Given the description of an element on the screen output the (x, y) to click on. 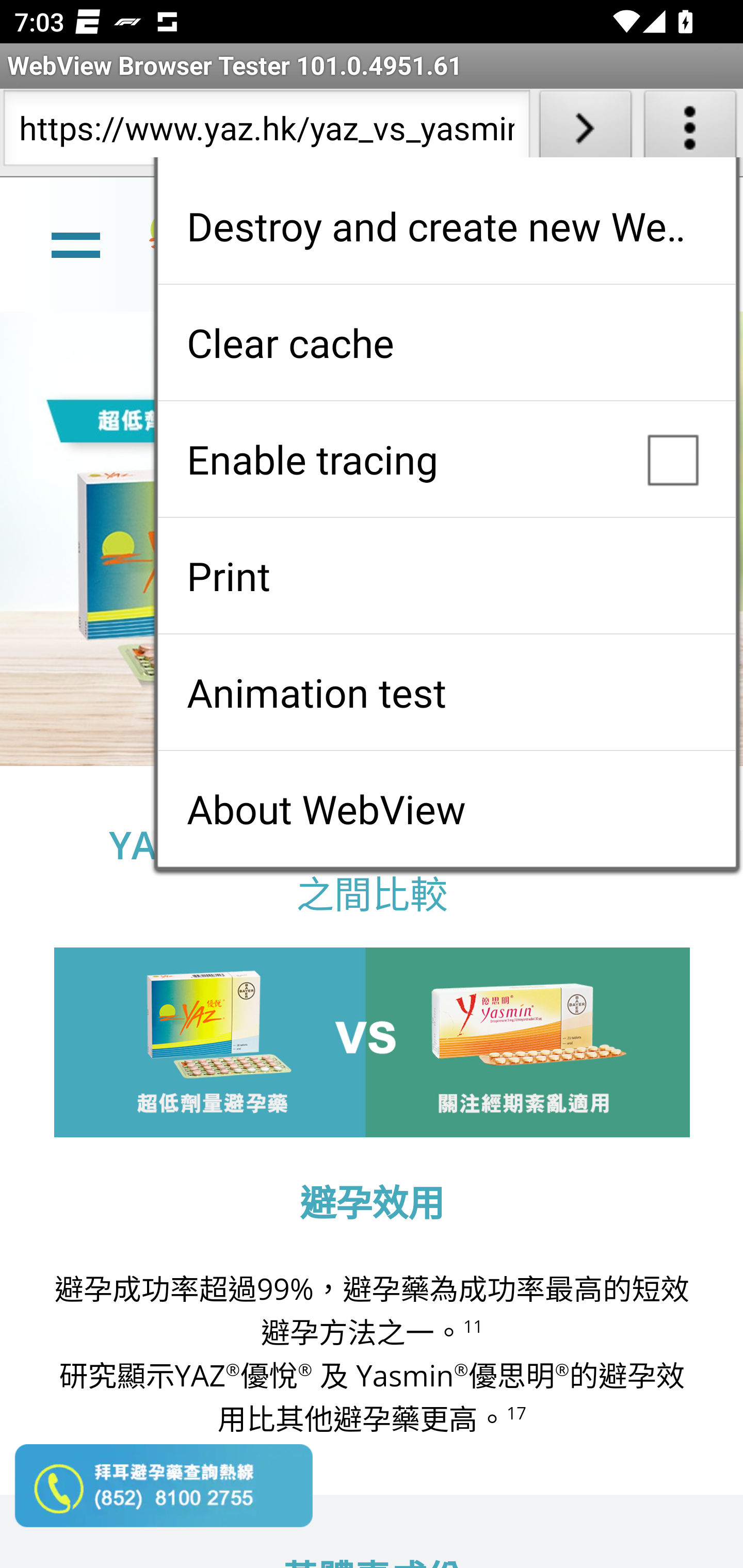
Destroy and create new WebView (446, 225)
Clear cache (446, 342)
Enable tracing (446, 459)
Print (446, 575)
Animation test (446, 692)
About WebView (446, 809)
